Given the description of an element on the screen output the (x, y) to click on. 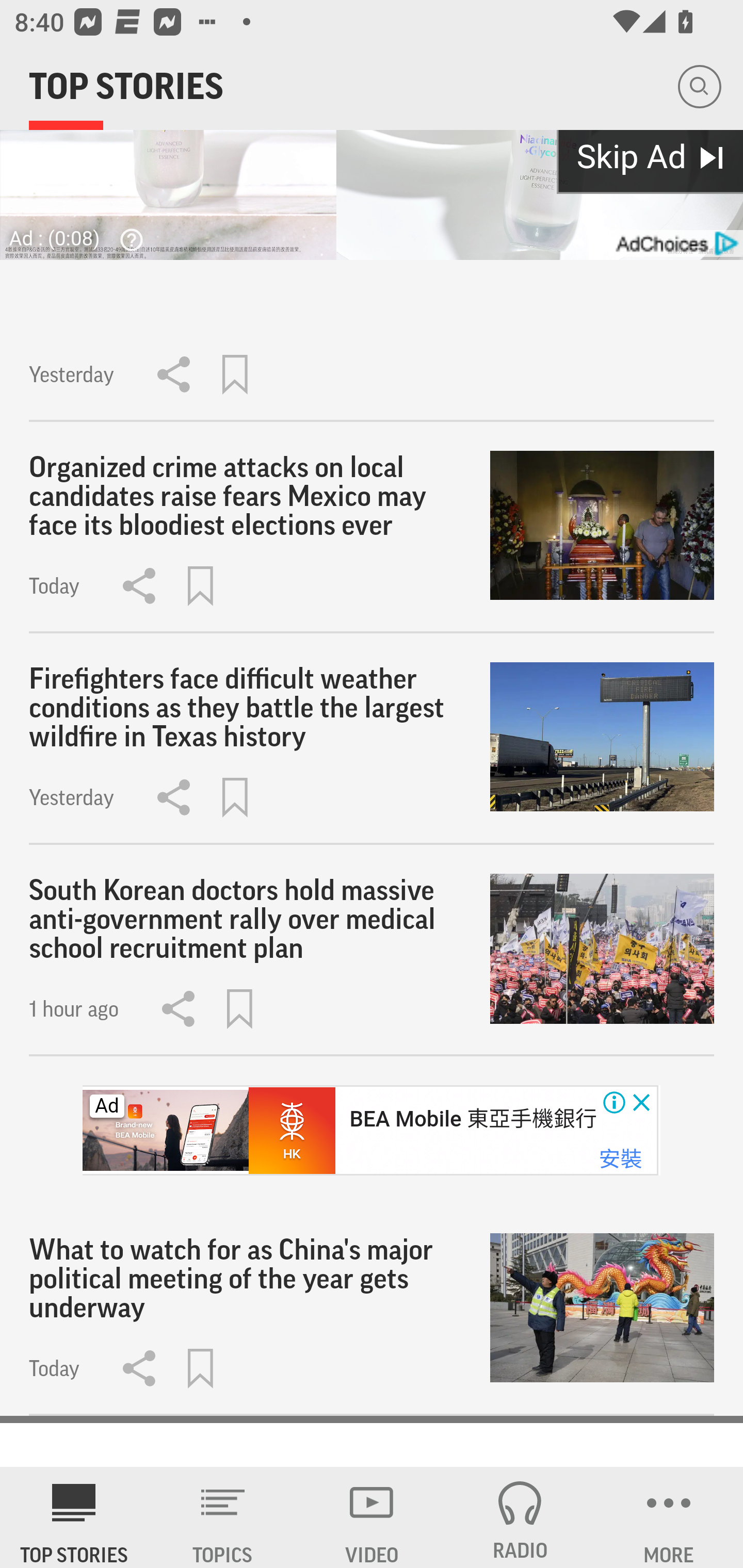
Ad : (0:08) Why This Ad? get?name=admarker-full-tl (371, 130)
Ad : (0:08) Why This Ad? (82, 237)
Why This Ad? (126, 238)
get?name=admarker-full-tl (675, 243)
BEA Mobile 東亞手機銀行 (471, 1119)
安裝 (620, 1159)
AP News TOP STORIES (74, 1517)
TOPICS (222, 1517)
VIDEO (371, 1517)
RADIO (519, 1517)
MORE (668, 1517)
